Given the description of an element on the screen output the (x, y) to click on. 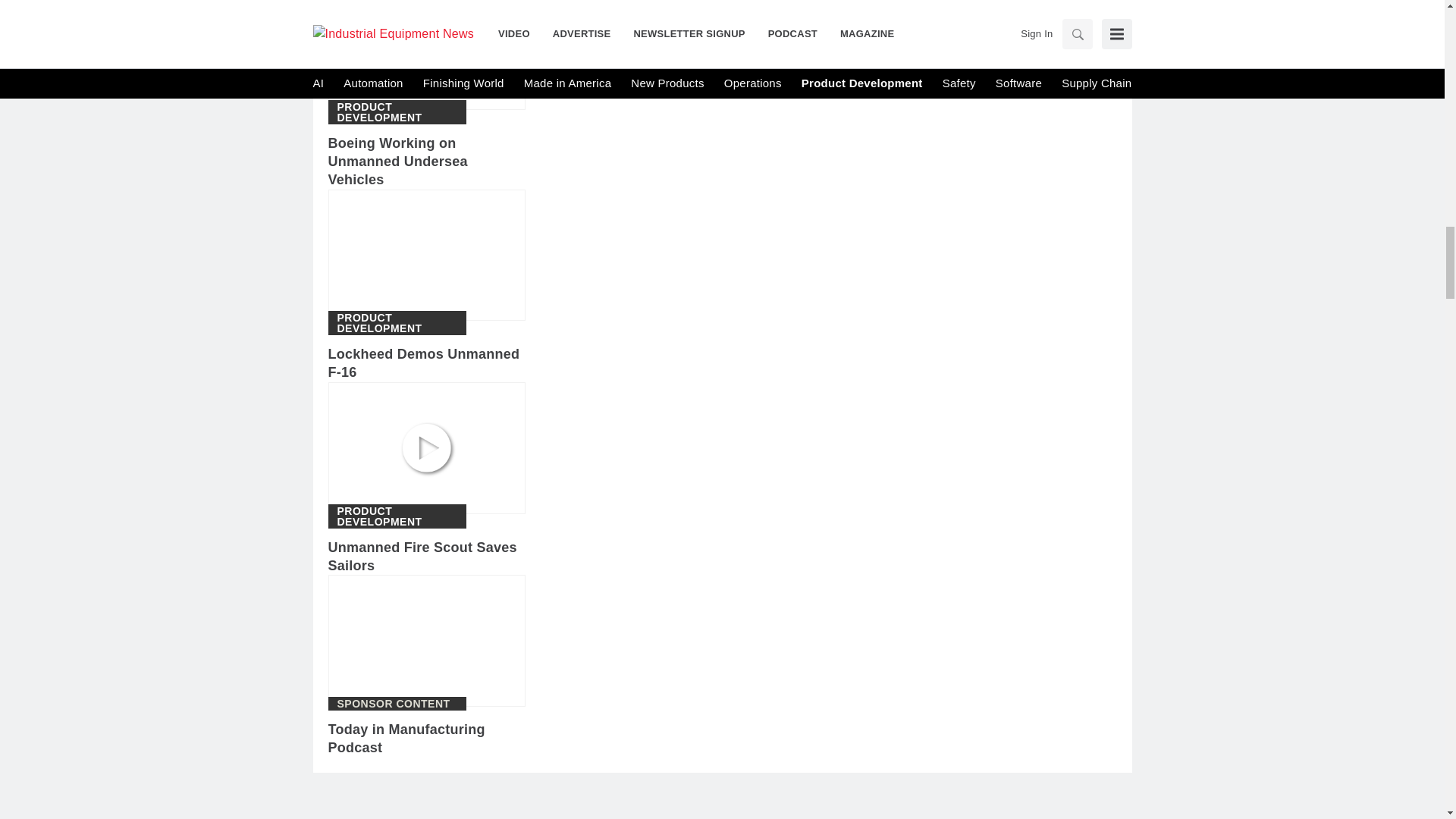
Product Development (396, 322)
Sponsor Content (392, 703)
Product Development (396, 111)
Product Development (396, 516)
